Given the description of an element on the screen output the (x, y) to click on. 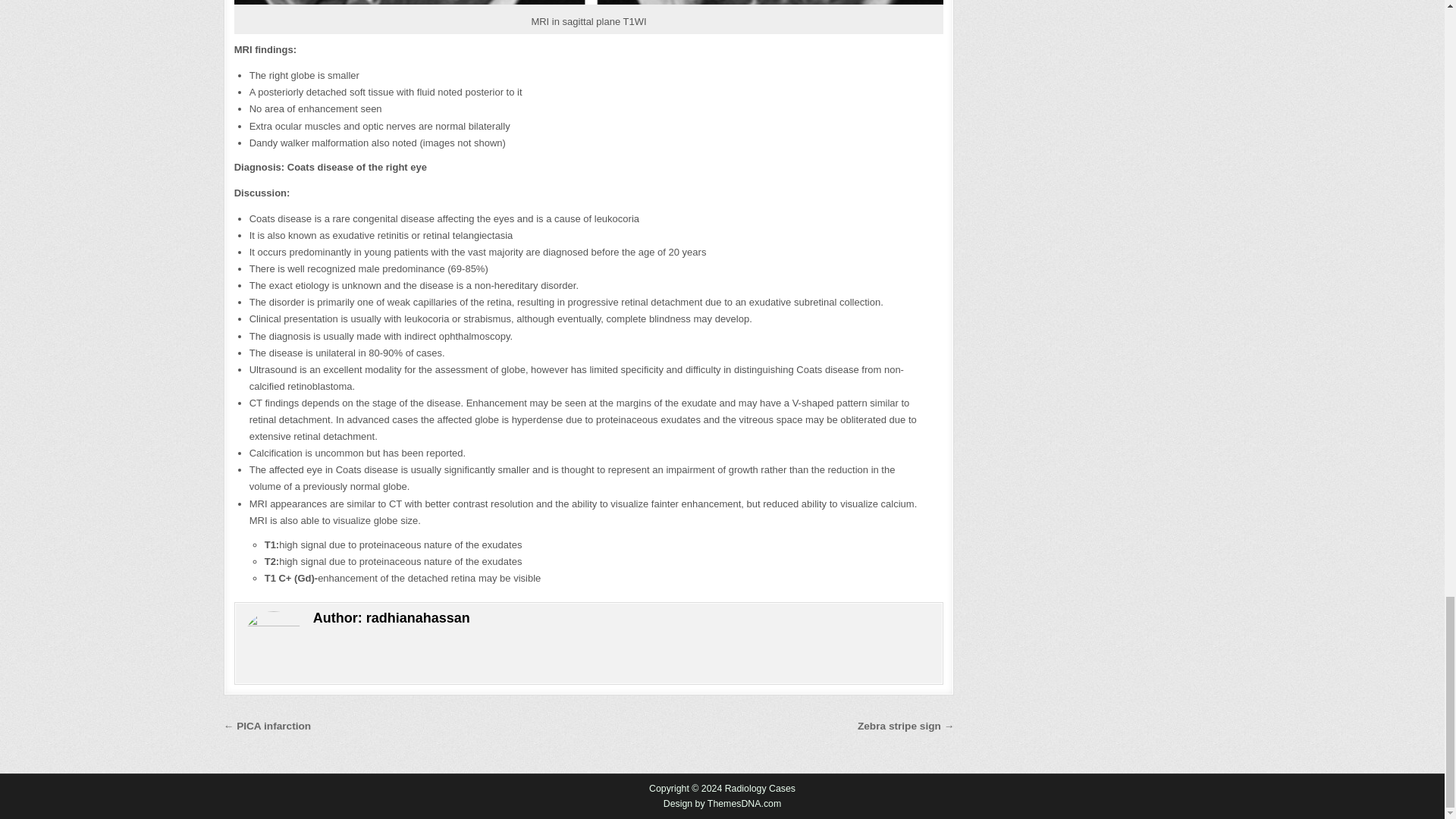
Design by ThemesDNA.com (722, 803)
